Given the description of an element on the screen output the (x, y) to click on. 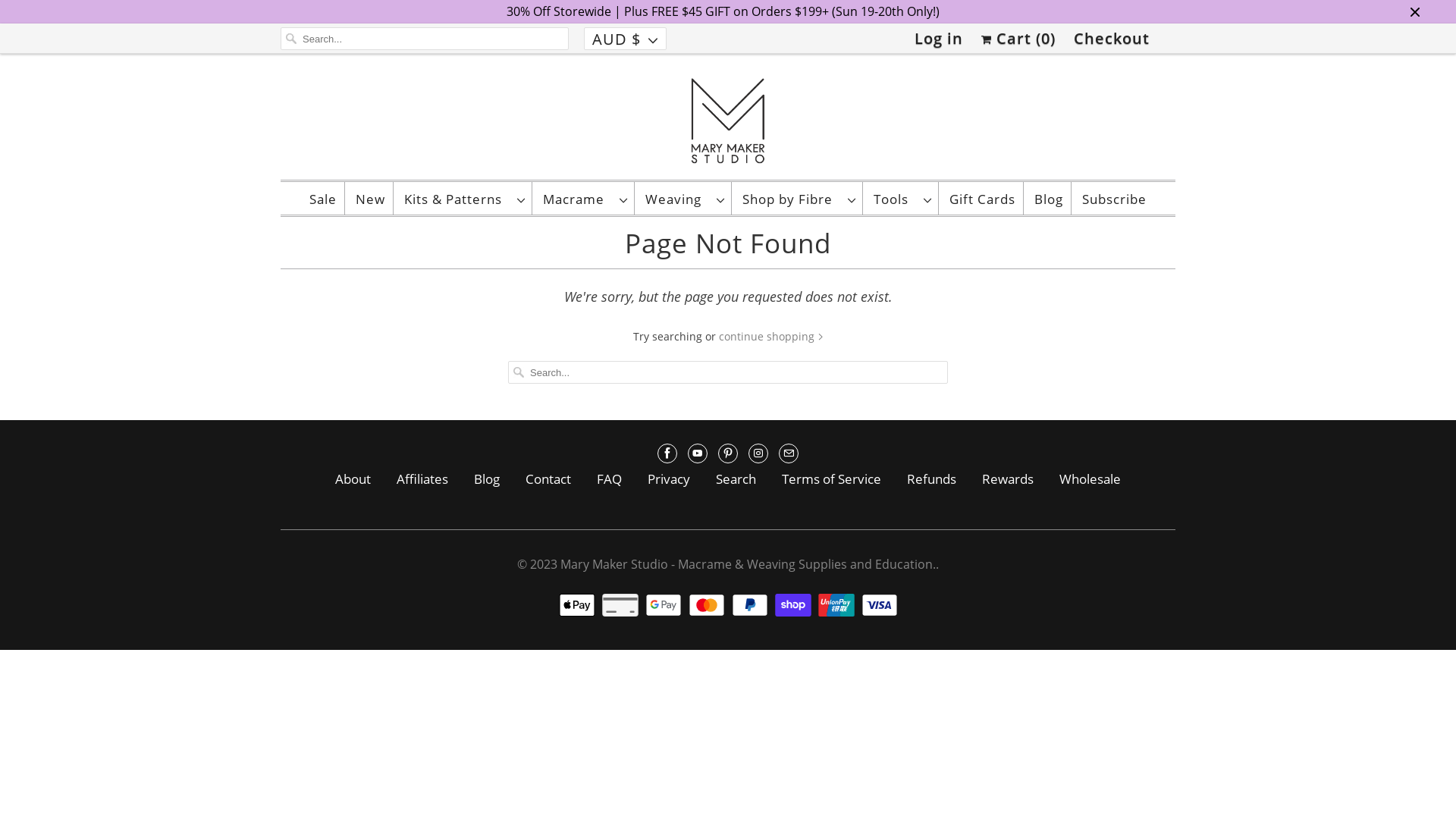
Blog Element type: text (486, 478)
FAQ Element type: text (608, 478)
Search Element type: text (735, 478)
Log in Element type: text (938, 38)
Wholesale Element type: text (1089, 478)
Refunds Element type: text (931, 478)
Blog Element type: text (1048, 198)
Subscribe Element type: text (1114, 198)
Gift Cards Element type: text (982, 198)
AUD $ Element type: text (624, 38)
New Element type: text (370, 198)
Rewards Element type: text (1007, 478)
Terms of Service Element type: text (831, 478)
Checkout Element type: text (1111, 38)
Sale Element type: text (322, 198)
Contact Element type: text (548, 478)
Privacy Element type: text (668, 478)
continue shopping Element type: text (770, 336)
Cart (0) Element type: text (1018, 38)
Affiliates Element type: text (422, 478)
About Element type: text (352, 478)
